Given the description of an element on the screen output the (x, y) to click on. 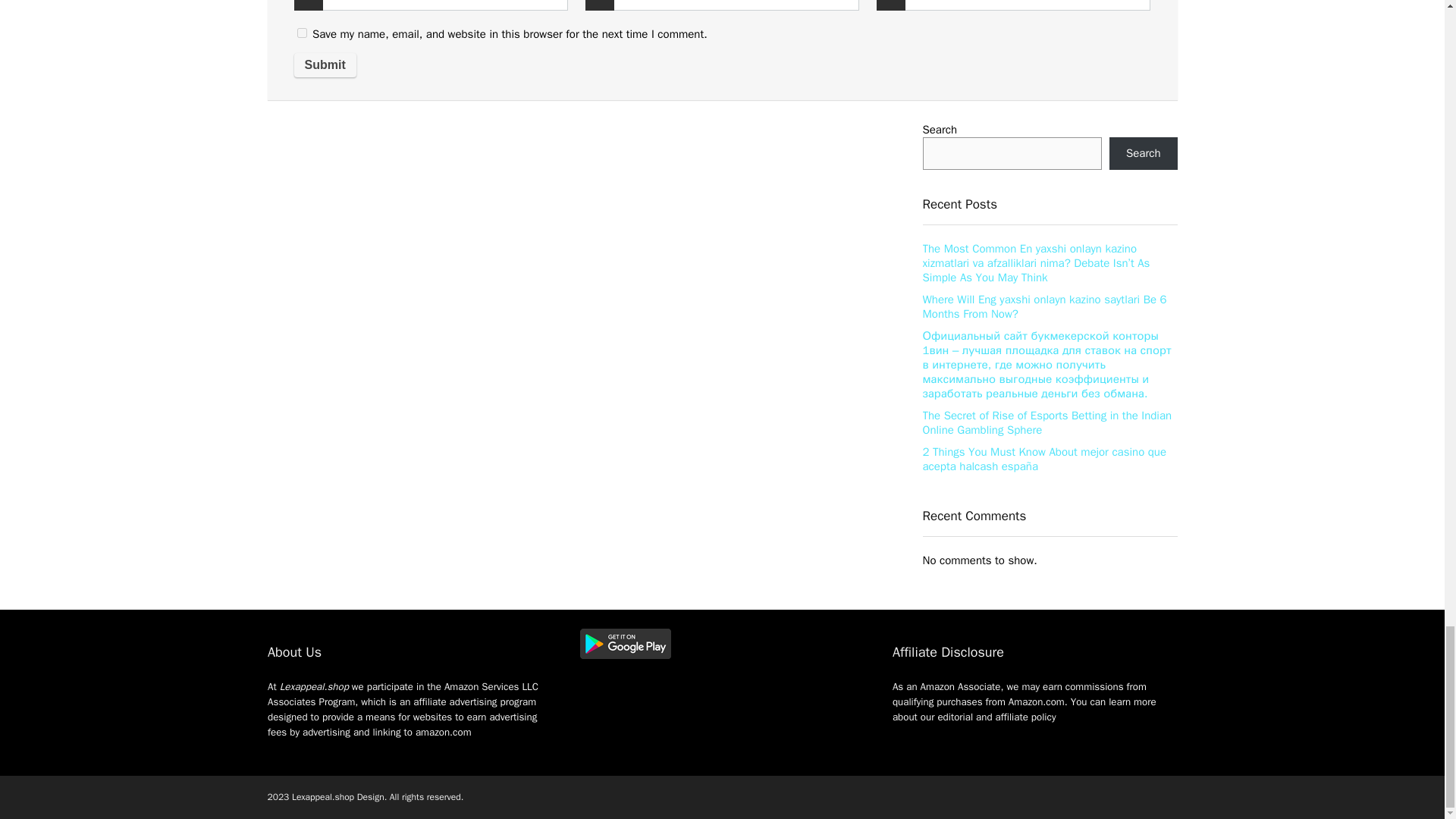
Submit (325, 64)
Search (1143, 153)
yes (302, 32)
Submit (325, 64)
